Given the description of an element on the screen output the (x, y) to click on. 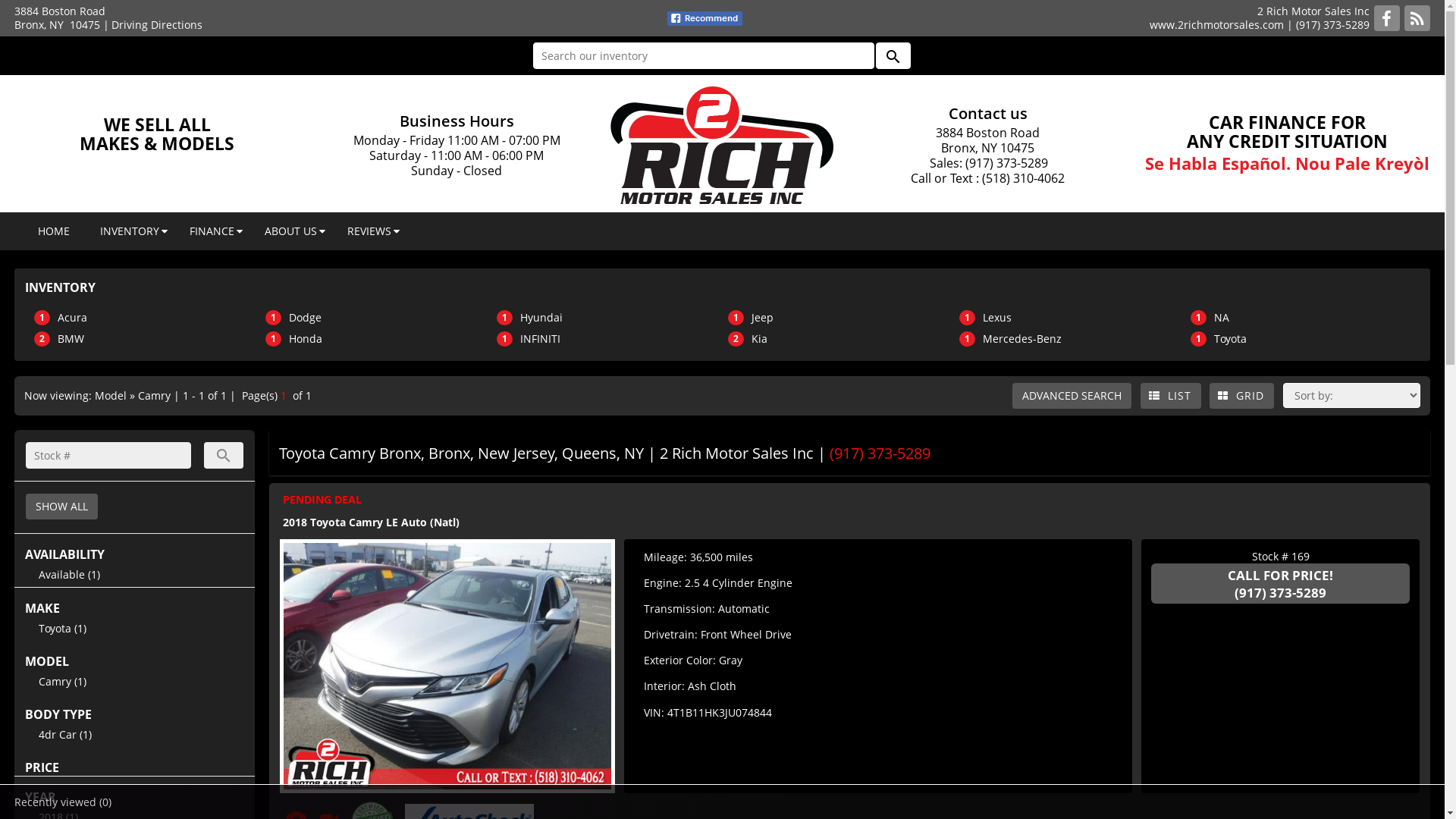
www.2richmotorsales.com Element type: text (1216, 24)
(917) 373-5289 Element type: text (1332, 24)
Search our inventory Element type: hover (702, 55)
HOME Element type: text (53, 231)
FINANCE Element type: text (211, 231)
WE SELL ALL
MAKES & MODELS Element type: text (156, 133)
1 Element type: text (283, 395)
search Element type: text (223, 455)
Driving Directions Element type: text (156, 24)
search Element type: text (892, 55)
LIST Element type: text (1170, 395)
INVENTORY Element type: text (129, 231)
4dr Car (1) Element type: text (64, 734)
(917) 373-5289 Element type: text (879, 452)
Camry (1) Element type: text (62, 681)
SHOW ALL Element type: text (61, 506)
REVIEWS Element type: text (369, 231)
Sales: (917) 373-5289 Element type: text (987, 162)
2018 Toyota Camry LE Auto (Natl) Element type: text (370, 521)
ADVANCED SEARCH Element type: text (1071, 395)
CAR FINANCE FOR
ANY CREDIT SITUATION Element type: text (1286, 131)
Available (1) Element type: text (69, 574)
Toyota (1) Element type: text (62, 628)
ABOUT US Element type: text (290, 231)
(917) 373-5289 Element type: text (1280, 592)
2 Rich Motor Sales Inc, Bronx, NY Element type: hover (721, 143)
GRID Element type: text (1241, 395)
fb recommend Element type: hover (704, 18)
